Given the description of an element on the screen output the (x, y) to click on. 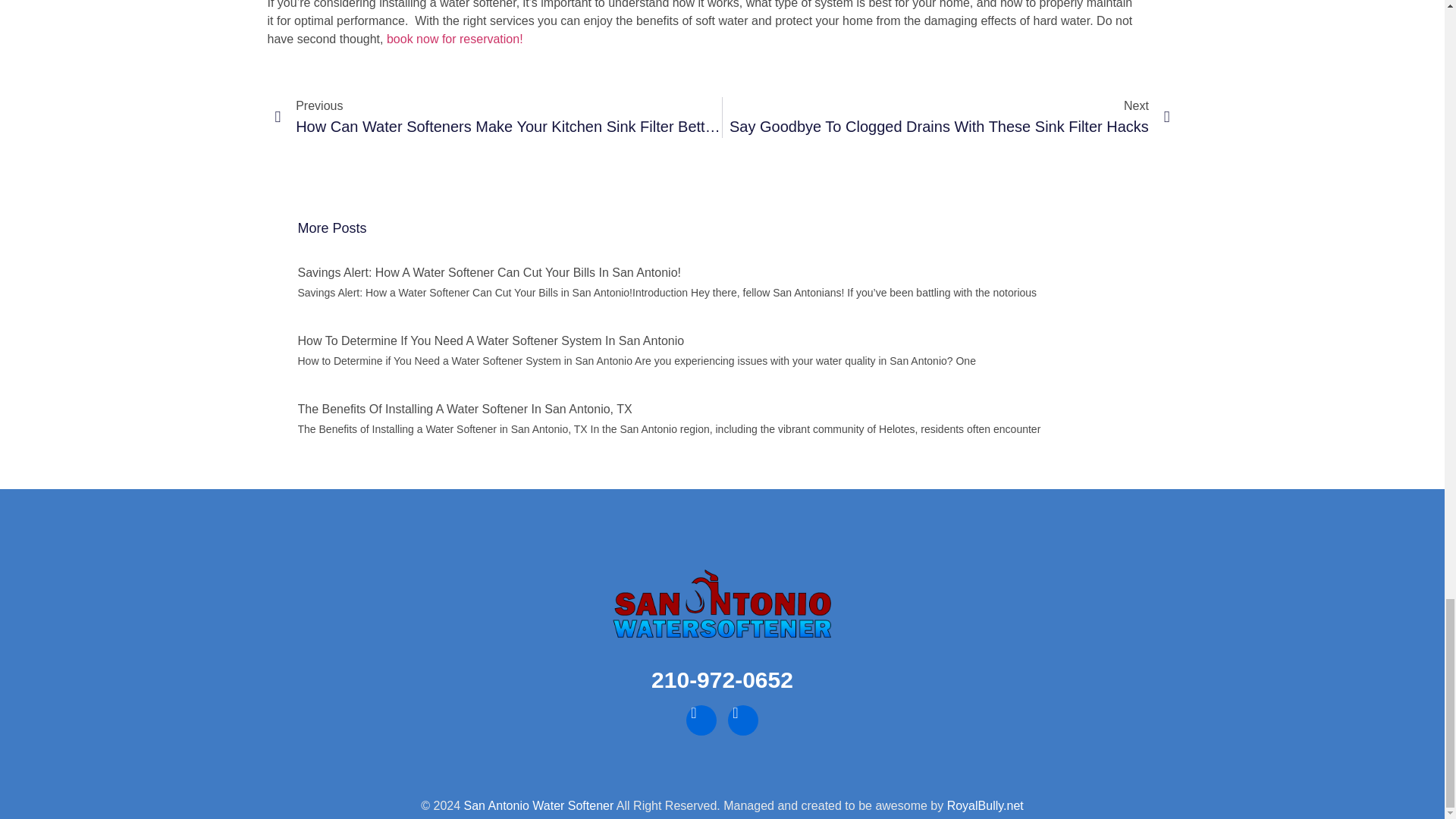
book now for reservation! (454, 38)
San Antonio Water Softener (539, 805)
RoyalBully.net (985, 805)
210-972-0652 (721, 679)
